Given the description of an element on the screen output the (x, y) to click on. 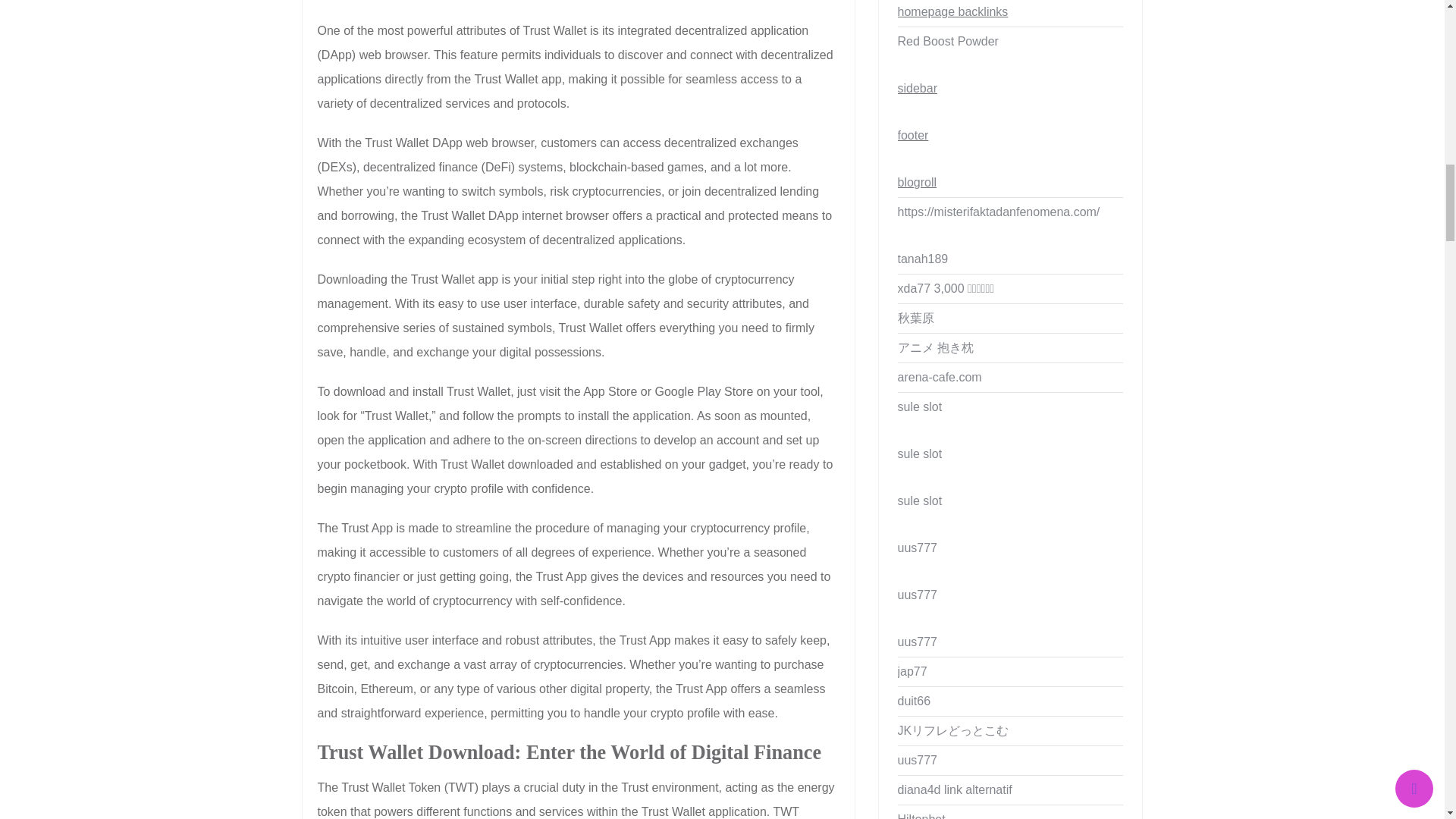
blogroll (1011, 182)
sidebar (1011, 88)
tanah189 (1011, 258)
homepage backlinks (1011, 13)
footer (1011, 135)
Red Boost Powder (1011, 41)
